Given the description of an element on the screen output the (x, y) to click on. 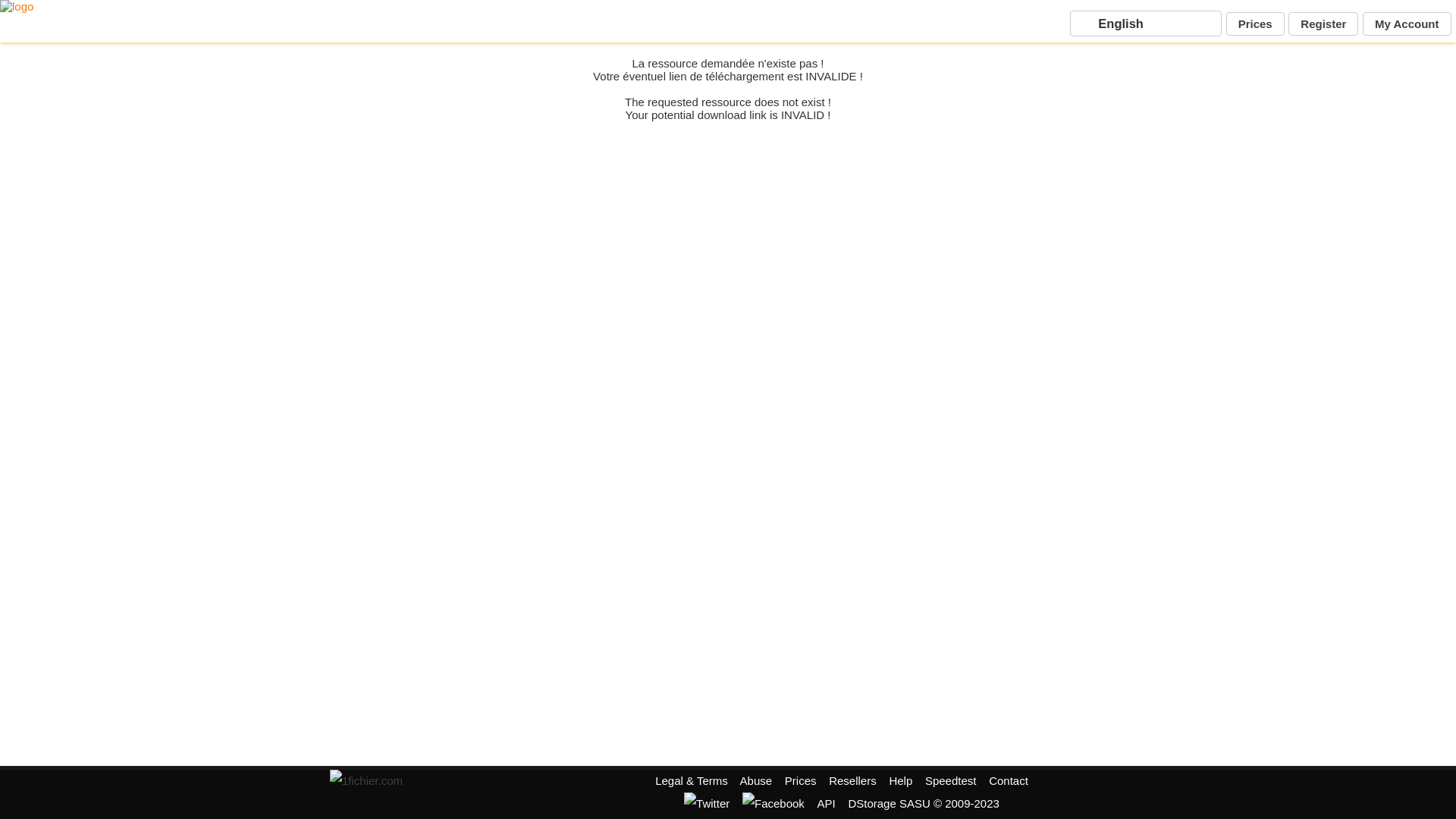
Help Element type: text (900, 780)
Prices Element type: text (1255, 23)
Prices Element type: text (800, 780)
Contact Element type: text (1008, 780)
Register Element type: text (1323, 23)
API Element type: text (826, 803)
Legal & Terms Element type: text (691, 780)
My Account Element type: text (1406, 23)
Resellers Element type: text (852, 780)
Speedtest Element type: text (950, 780)
Abuse Element type: text (756, 780)
